Given the description of an element on the screen output the (x, y) to click on. 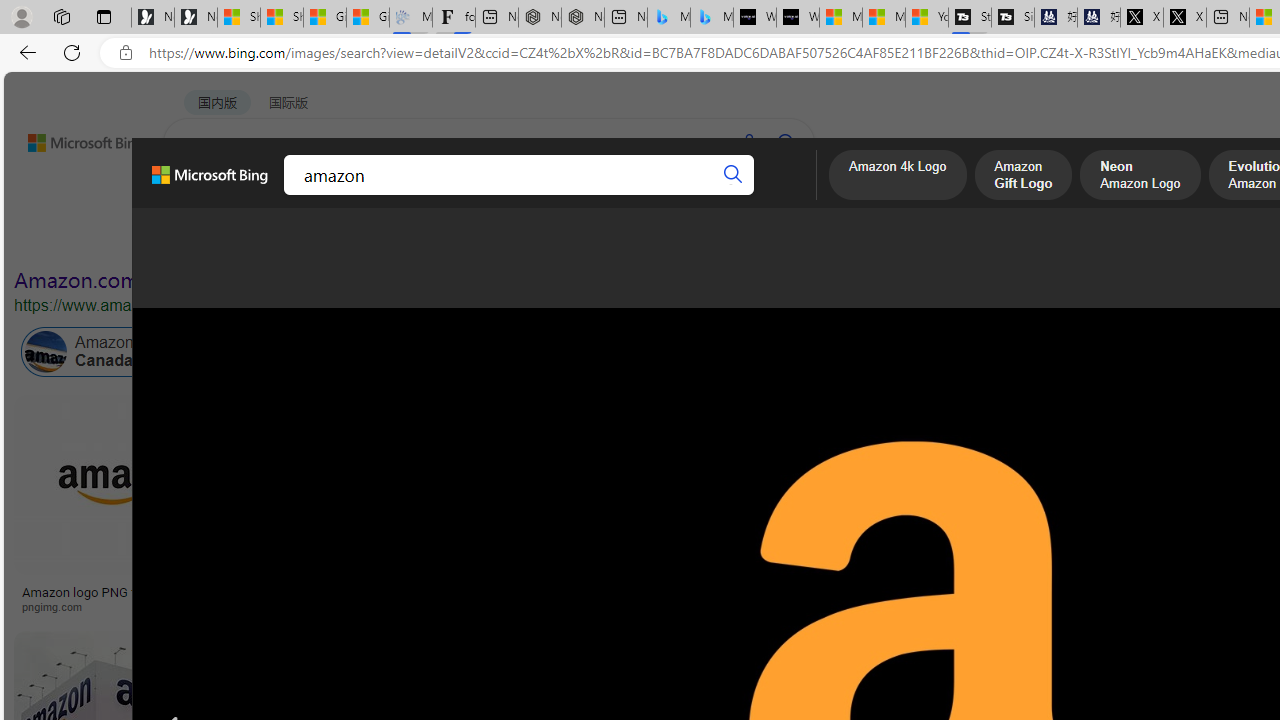
Amazon Cloud (606, 351)
MAPS (698, 195)
ACADEMIC (548, 195)
Listen: What's next for Amazon?usatoday.comSave (656, 508)
Amazon Labor Law Violation in California (993, 351)
Neon Amazon Logo (1139, 177)
People (521, 237)
Amazon Canada Online (114, 351)
